Given the description of an element on the screen output the (x, y) to click on. 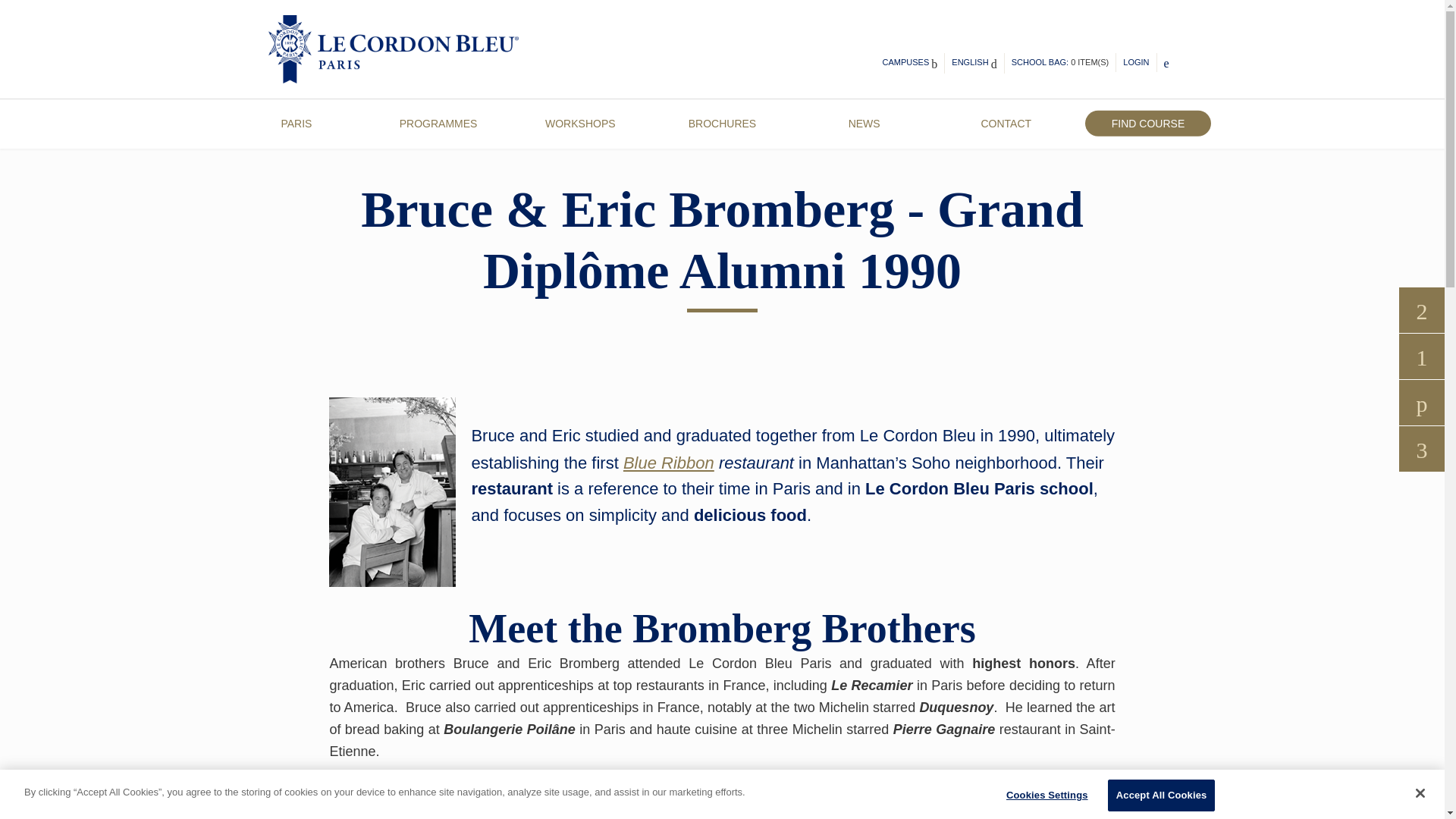
ENGLISH (973, 63)
PARIS (295, 123)
LOGIN (1135, 62)
CAMPUSES (909, 63)
PROGRAMMES (438, 123)
